Given the description of an element on the screen output the (x, y) to click on. 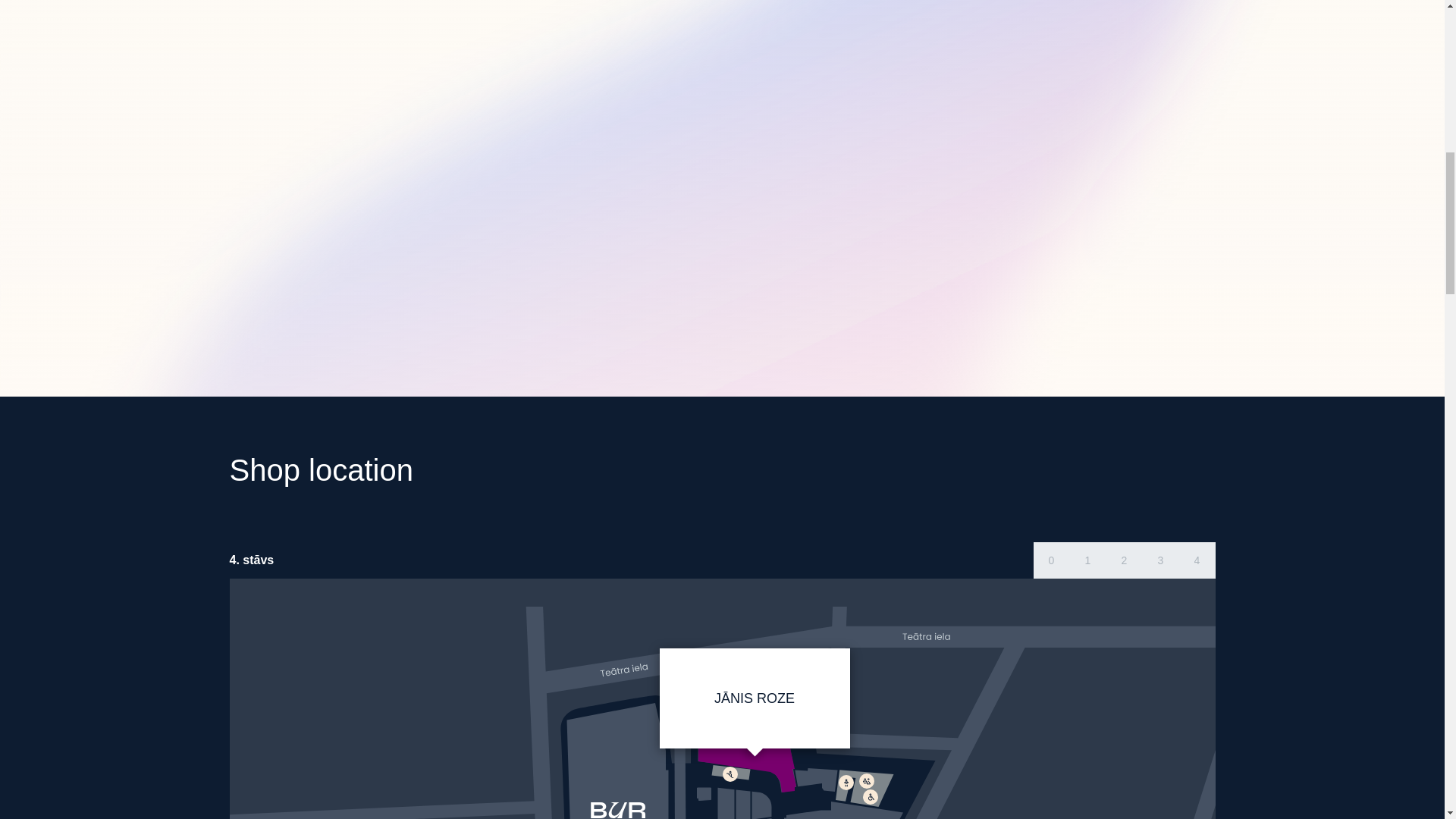
0 (1050, 559)
1 (1086, 559)
2 (1123, 559)
3 (1159, 559)
4 (1195, 559)
